Given the description of an element on the screen output the (x, y) to click on. 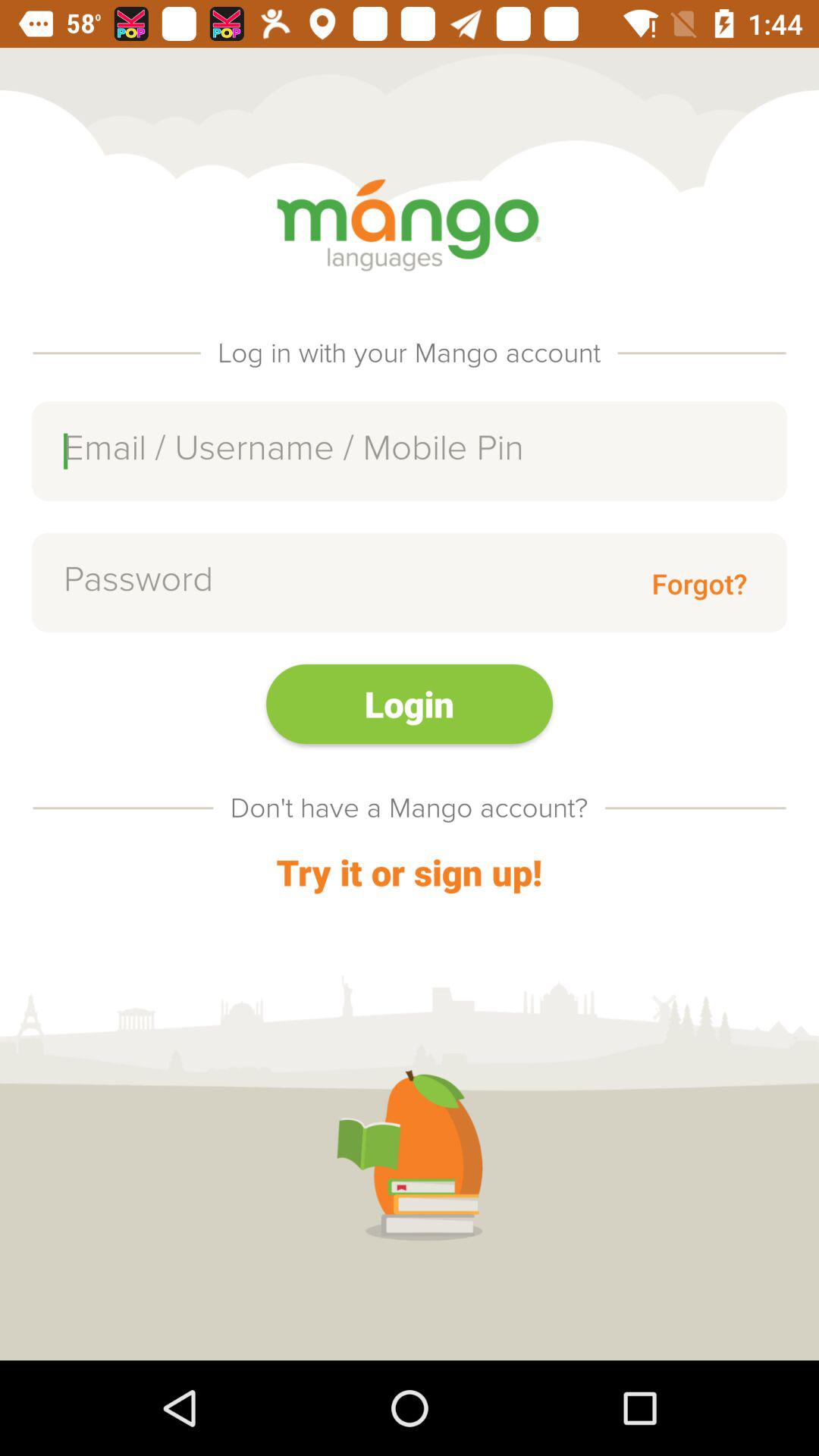
click the item above don t have (409, 703)
